Given the description of an element on the screen output the (x, y) to click on. 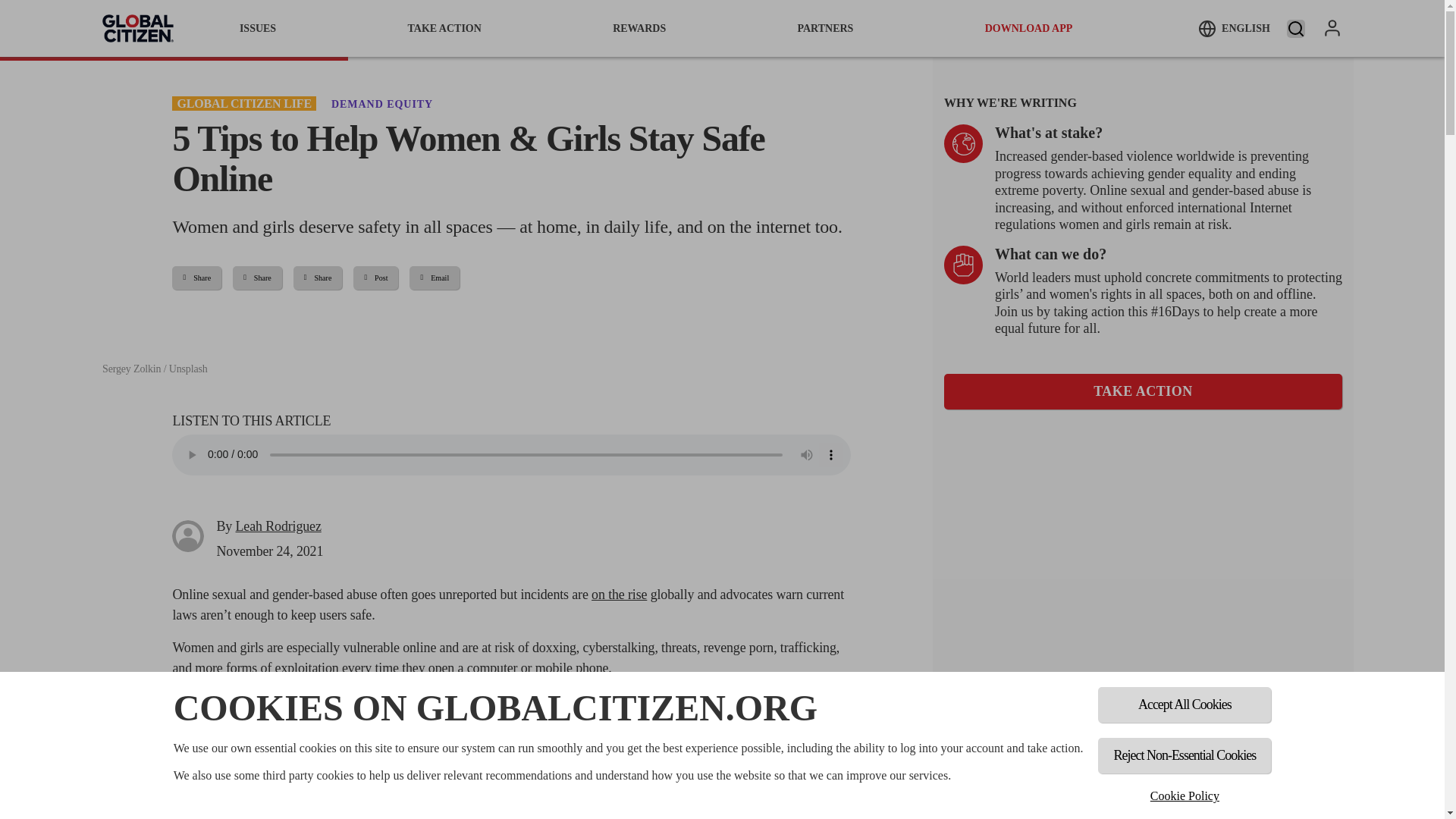
TAKE ACTION (444, 28)
ISSUES (257, 28)
Demand Equity (381, 103)
REWARDS (639, 28)
TAKE ACTION (1142, 390)
PARTNERS (825, 28)
DOWNLOAD APP (1029, 28)
DEMAND EQUITY (381, 103)
ENGLISH (1233, 28)
